Given the description of an element on the screen output the (x, y) to click on. 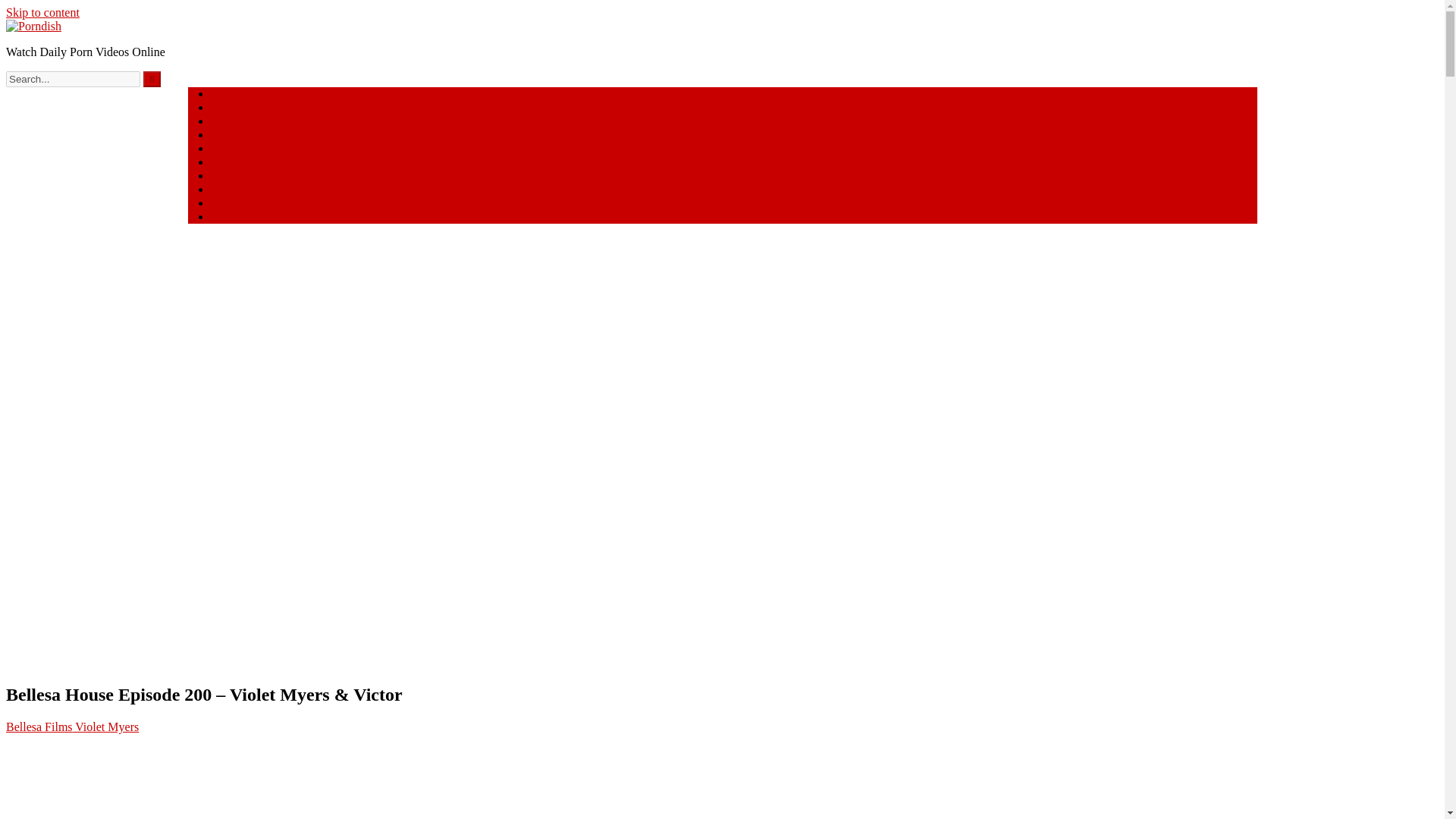
Actors (227, 215)
Bellesa Films (38, 726)
Brazzers (232, 120)
Channels (233, 202)
Violet Myers (105, 726)
RealityKings (243, 147)
Violet Myers (105, 726)
BangBros (235, 133)
Home (225, 92)
Porn Videos (240, 106)
